Given the description of an element on the screen output the (x, y) to click on. 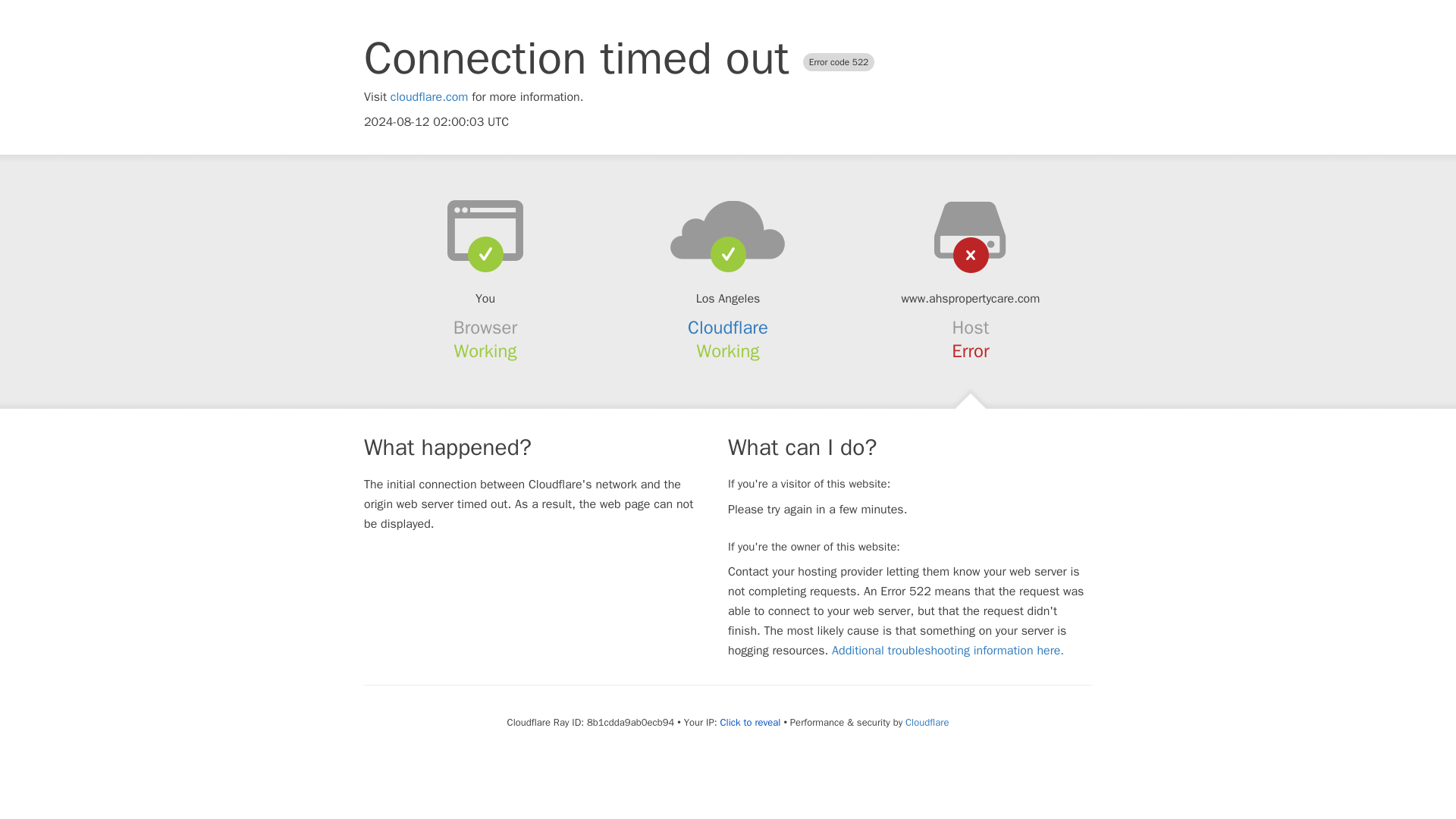
Additional troubleshooting information here. (947, 650)
Cloudflare (727, 327)
cloudflare.com (429, 96)
Cloudflare (927, 721)
Click to reveal (750, 722)
